Given the description of an element on the screen output the (x, y) to click on. 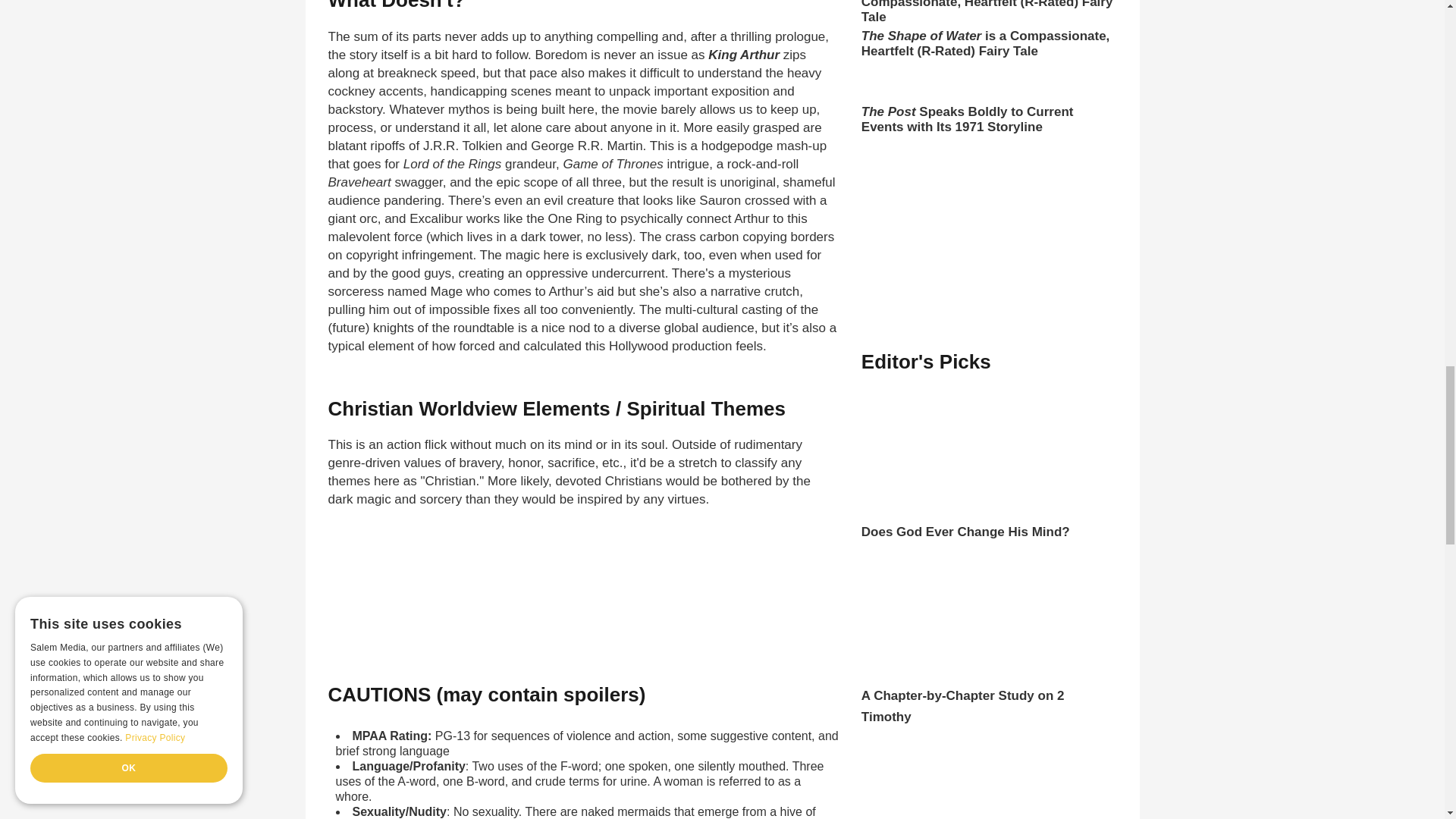
CW Desktop Embed - Angels PDF 650x175 - Daily Insp (564, 602)
